Given the description of an element on the screen output the (x, y) to click on. 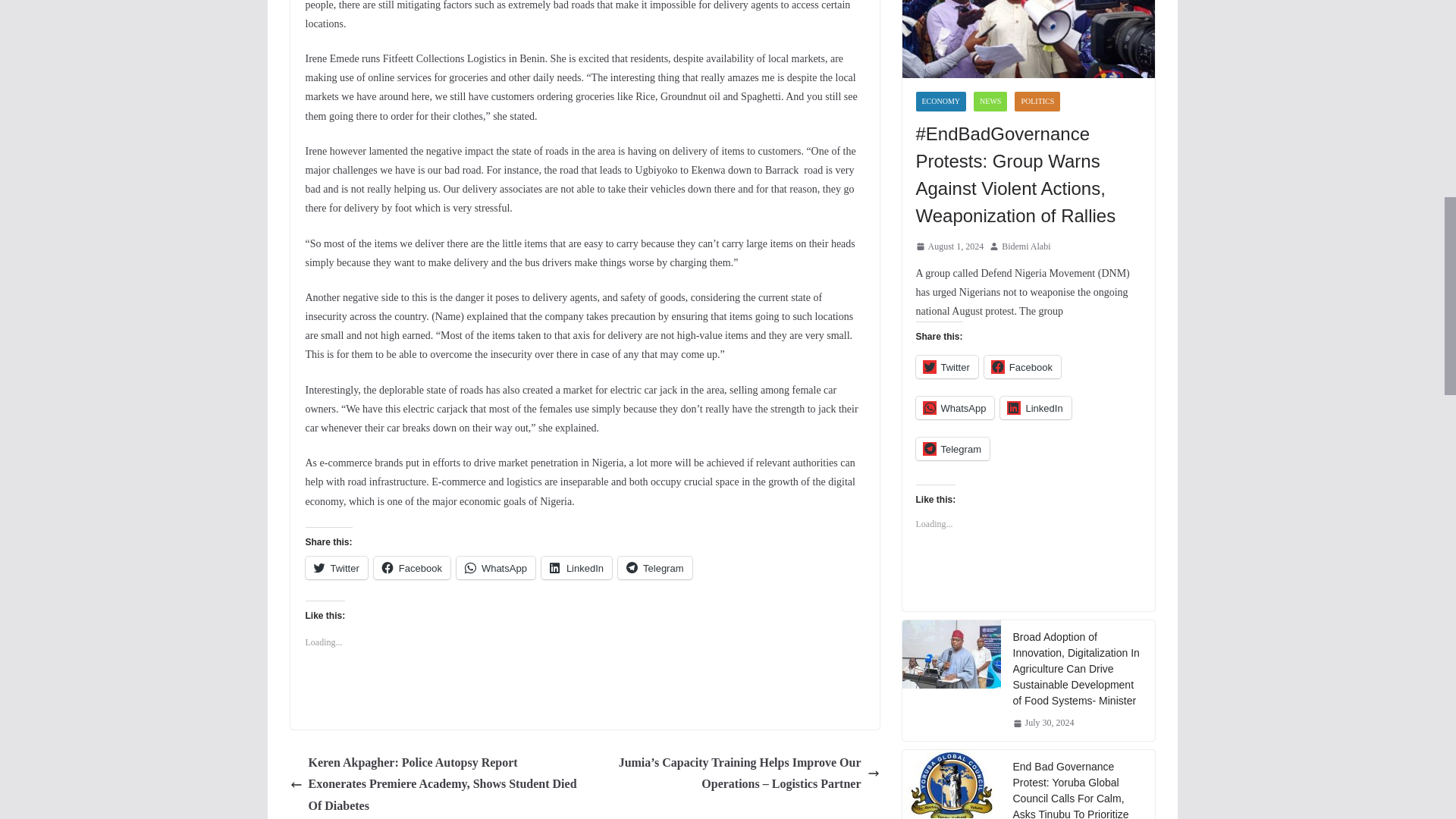
Click to share on Facebook (411, 567)
Telegram (654, 567)
Click to share on Twitter (335, 567)
Click to share on LinkedIn (576, 567)
WhatsApp (496, 567)
LinkedIn (576, 567)
Twitter (335, 567)
Click to share on WhatsApp (496, 567)
Facebook (411, 567)
